Given the description of an element on the screen output the (x, y) to click on. 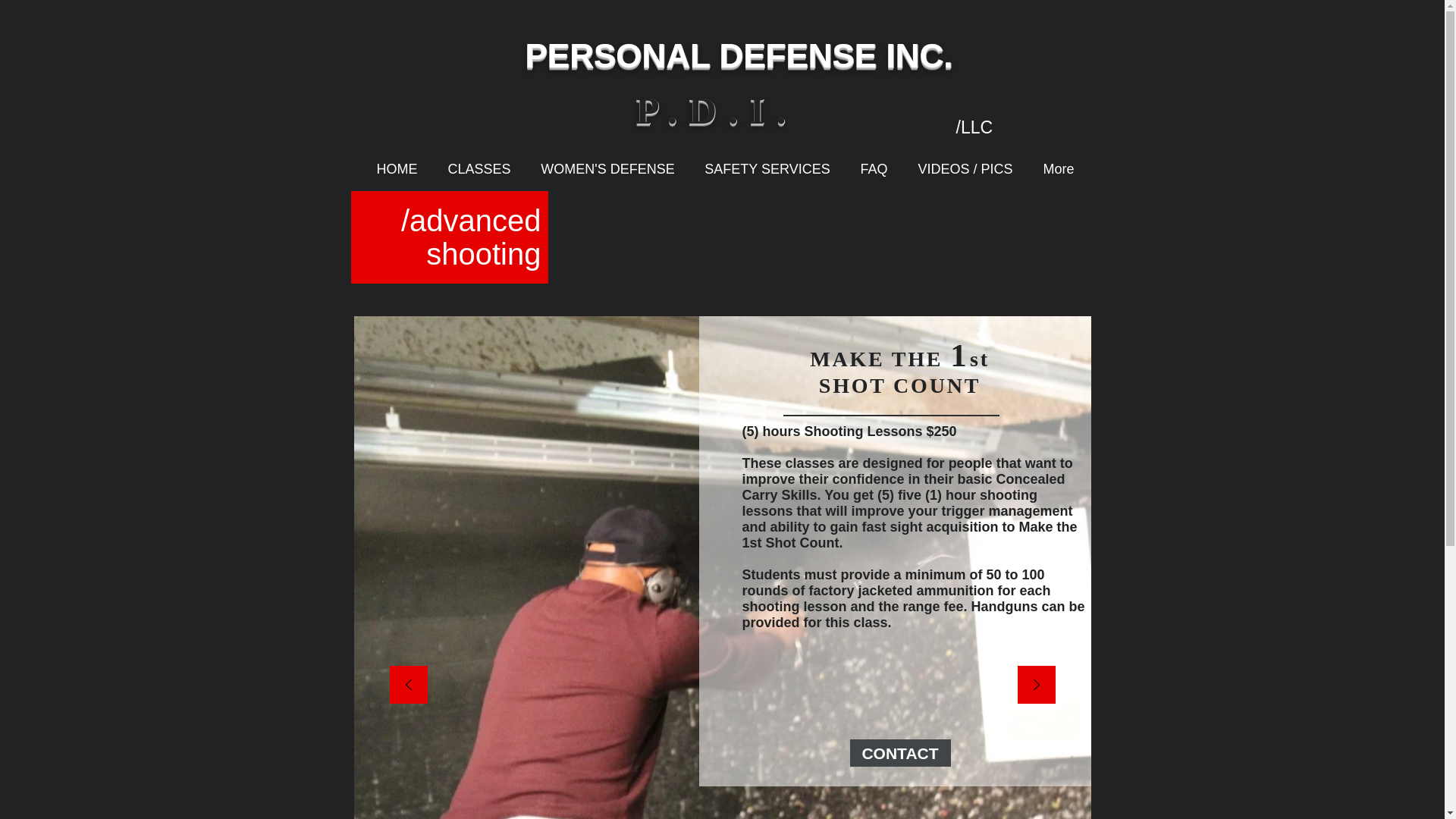
HOME (396, 169)
WOMEN'S DEFENSE (607, 169)
SAFETY SERVICES (767, 169)
FAQ (873, 169)
PERSONAL DEFENSE INC. (738, 55)
CONTACT (899, 752)
